Given the description of an element on the screen output the (x, y) to click on. 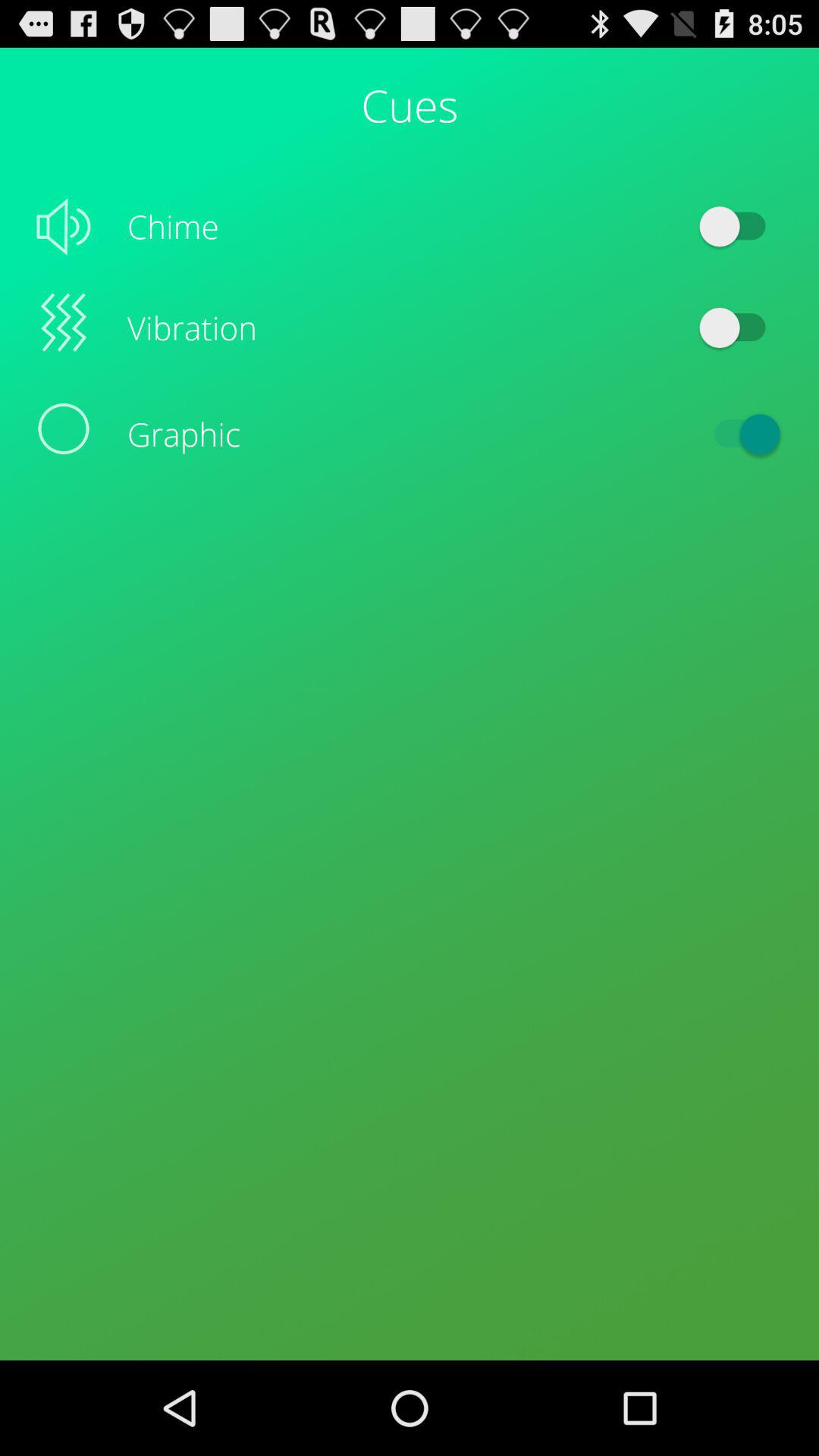
tap icon to the right of chime (739, 226)
